Given the description of an element on the screen output the (x, y) to click on. 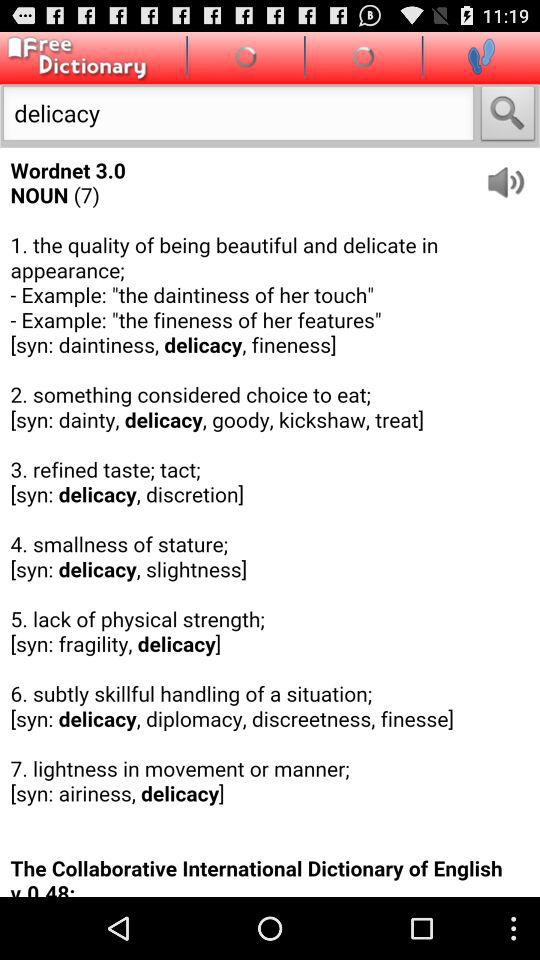
go to frontpage (74, 58)
